Given the description of an element on the screen output the (x, y) to click on. 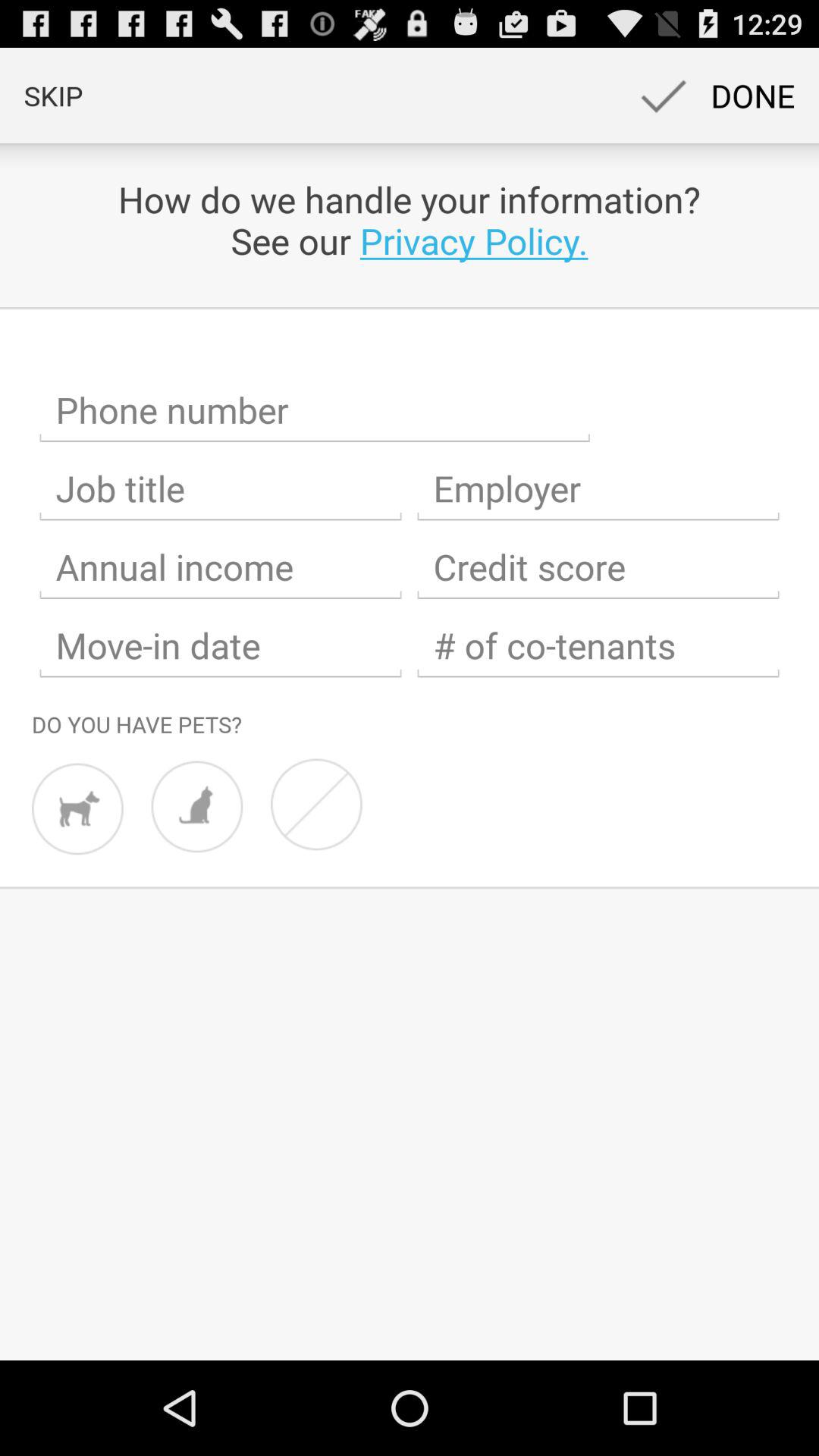
select none (316, 804)
